Given the description of an element on the screen output the (x, y) to click on. 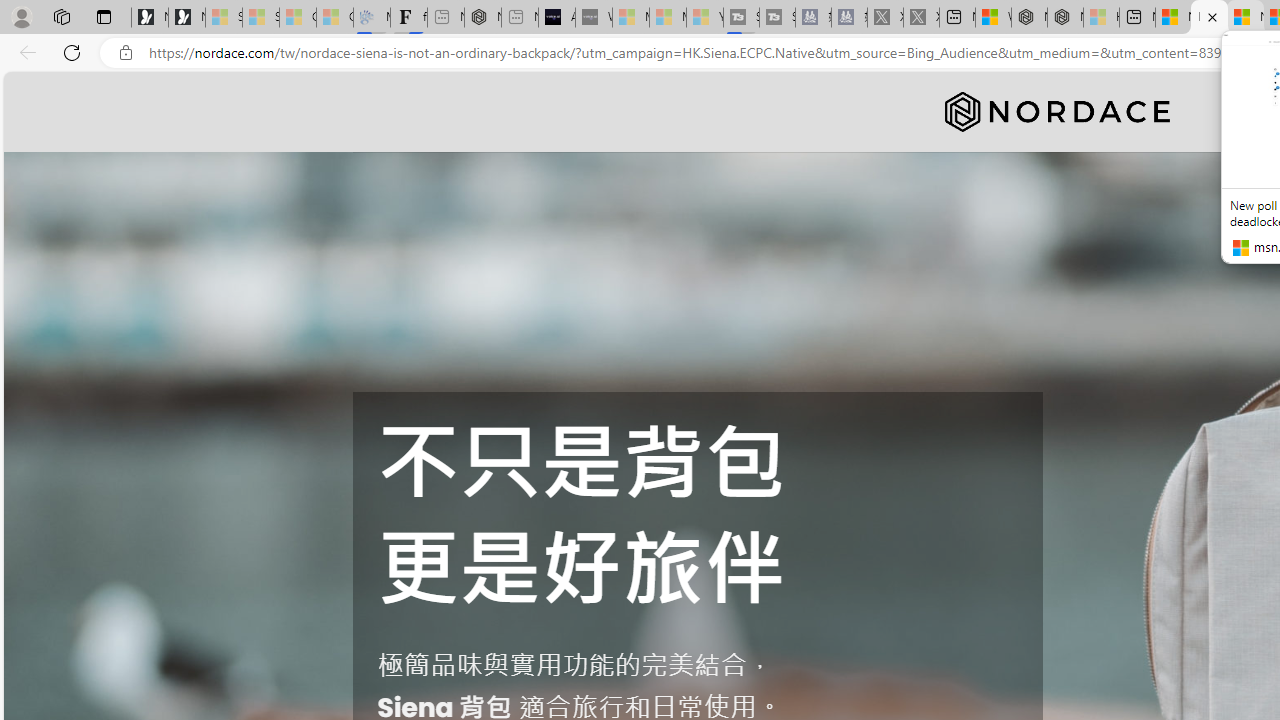
Nordace - Nordace Siena Is Not An Ordinary Backpack (1209, 17)
Newsletter Sign Up (186, 17)
Microsoft Start - Sleeping (668, 17)
Microsoft Start Sports - Sleeping (630, 17)
What's the best AI voice generator? - voice.ai - Sleeping (593, 17)
